Given the description of an element on the screen output the (x, y) to click on. 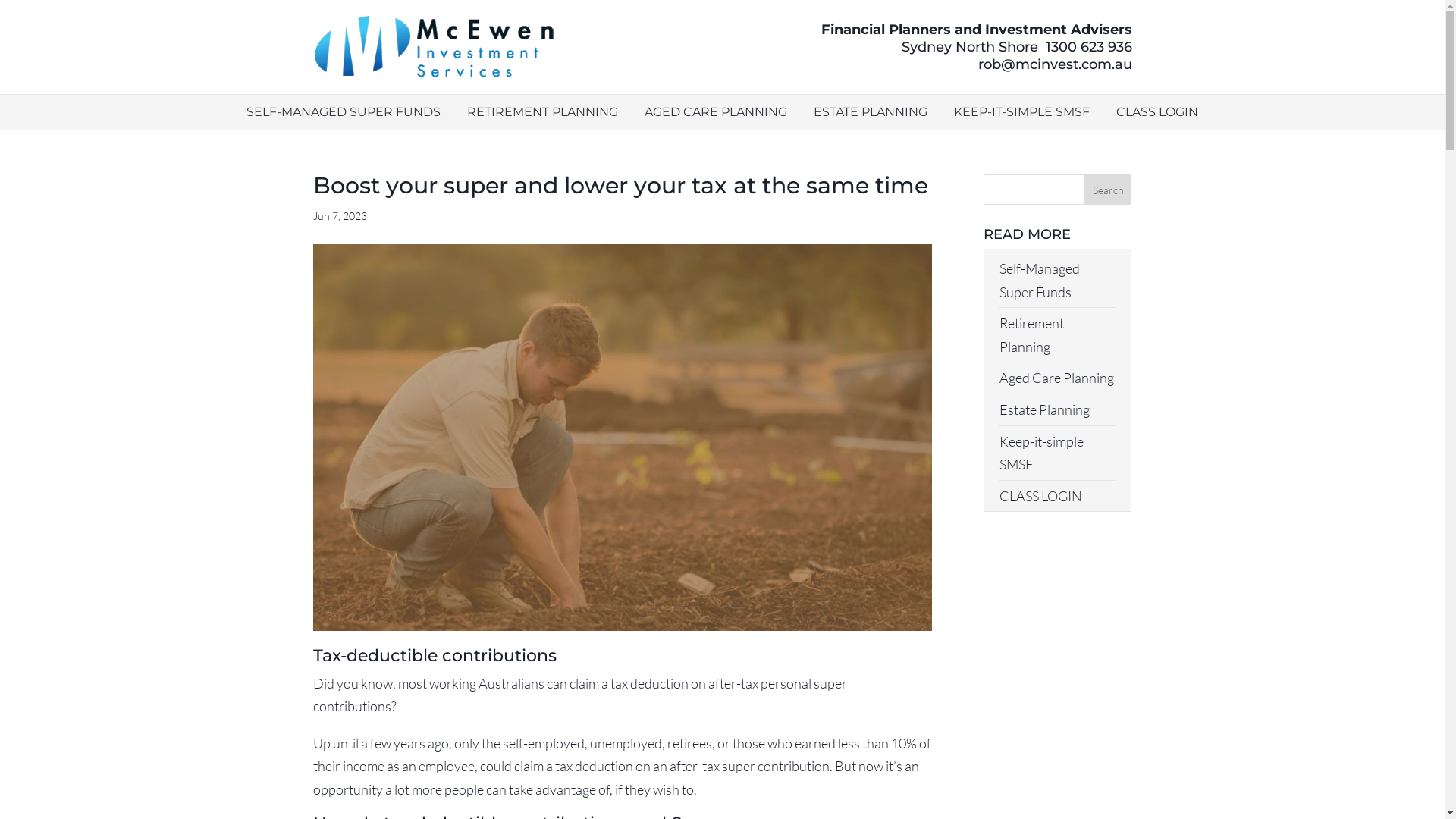
Self-Managed Super Funds Element type: text (1039, 280)
CLASS LOGIN Element type: text (1157, 111)
Estate Planning Element type: text (1044, 409)
ESTATE PLANNING Element type: text (870, 111)
AGED CARE PLANNING Element type: text (715, 111)
KEEP-IT-SIMPLE SMSF Element type: text (1021, 111)
CLASS LOGIN Element type: text (1040, 495)
Aged Care Planning Element type: text (1056, 377)
Retirement Planning Element type: text (1031, 334)
1300 623 936 Element type: text (1087, 45)
Search Element type: text (1108, 189)
rob@mcinvest.com.au Element type: text (1055, 64)
Keep-it-simple SMSF Element type: text (1041, 453)
RETIREMENT PLANNING Element type: text (542, 111)
SELF-MANAGED SUPER FUNDS Element type: text (343, 111)
